Given the description of an element on the screen output the (x, y) to click on. 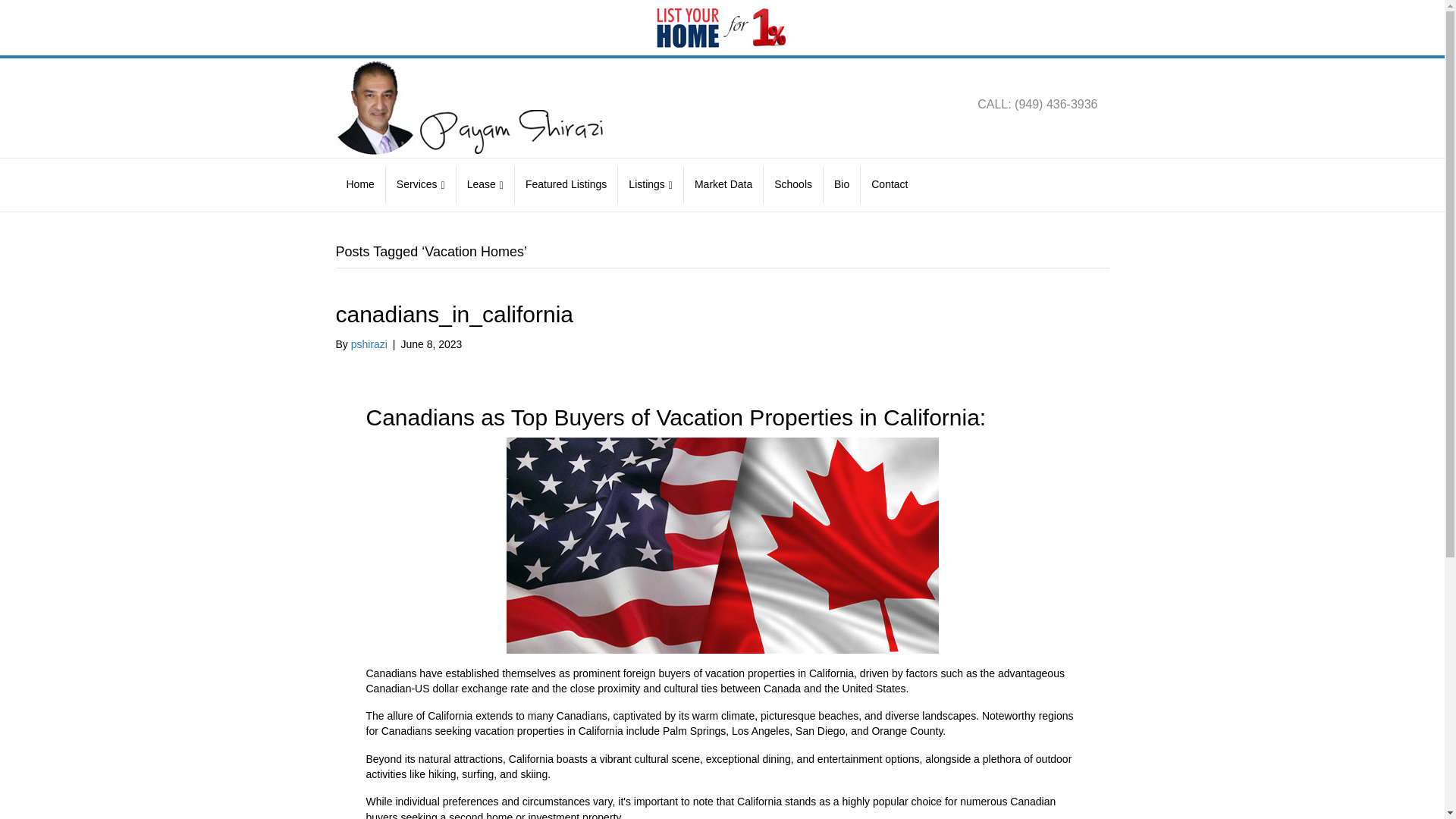
Home (359, 184)
pshirazi (368, 344)
Schools (793, 184)
Lease (486, 184)
Contact (889, 184)
Listings (650, 184)
Bio (842, 184)
Active Listings LA OC (650, 184)
Featured Listings (566, 184)
Market Data (723, 184)
Services (421, 184)
